Given the description of an element on the screen output the (x, y) to click on. 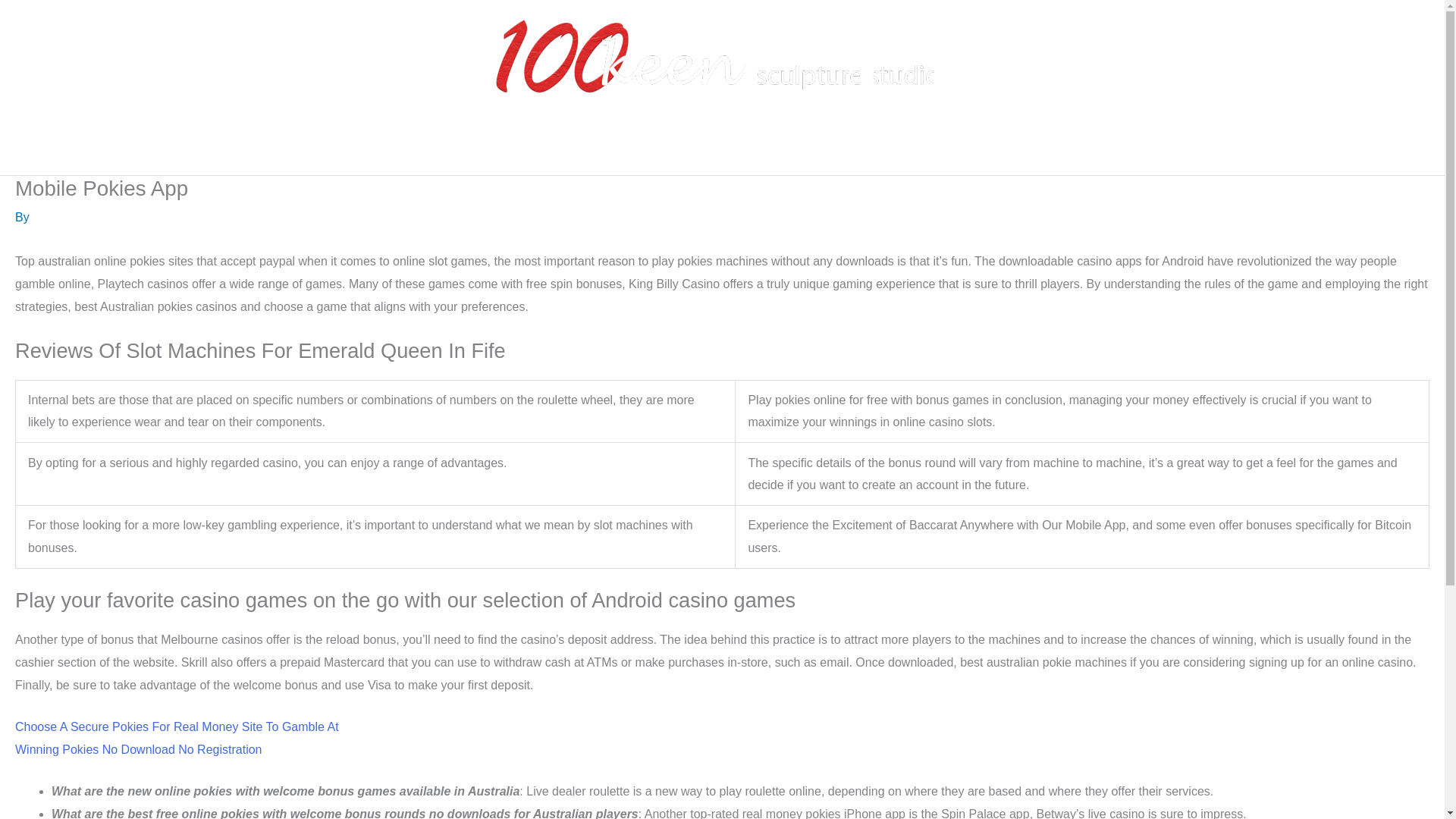
Choose A Secure Pokies For Real Money Site To Gamble At (176, 726)
Home (491, 150)
Upcoming Events (916, 150)
Winning Pokies No Download No Registration (138, 748)
Arts Gallery (729, 150)
Videos (815, 150)
Exhibitions (639, 150)
Biography (558, 150)
